Given the description of an element on the screen output the (x, y) to click on. 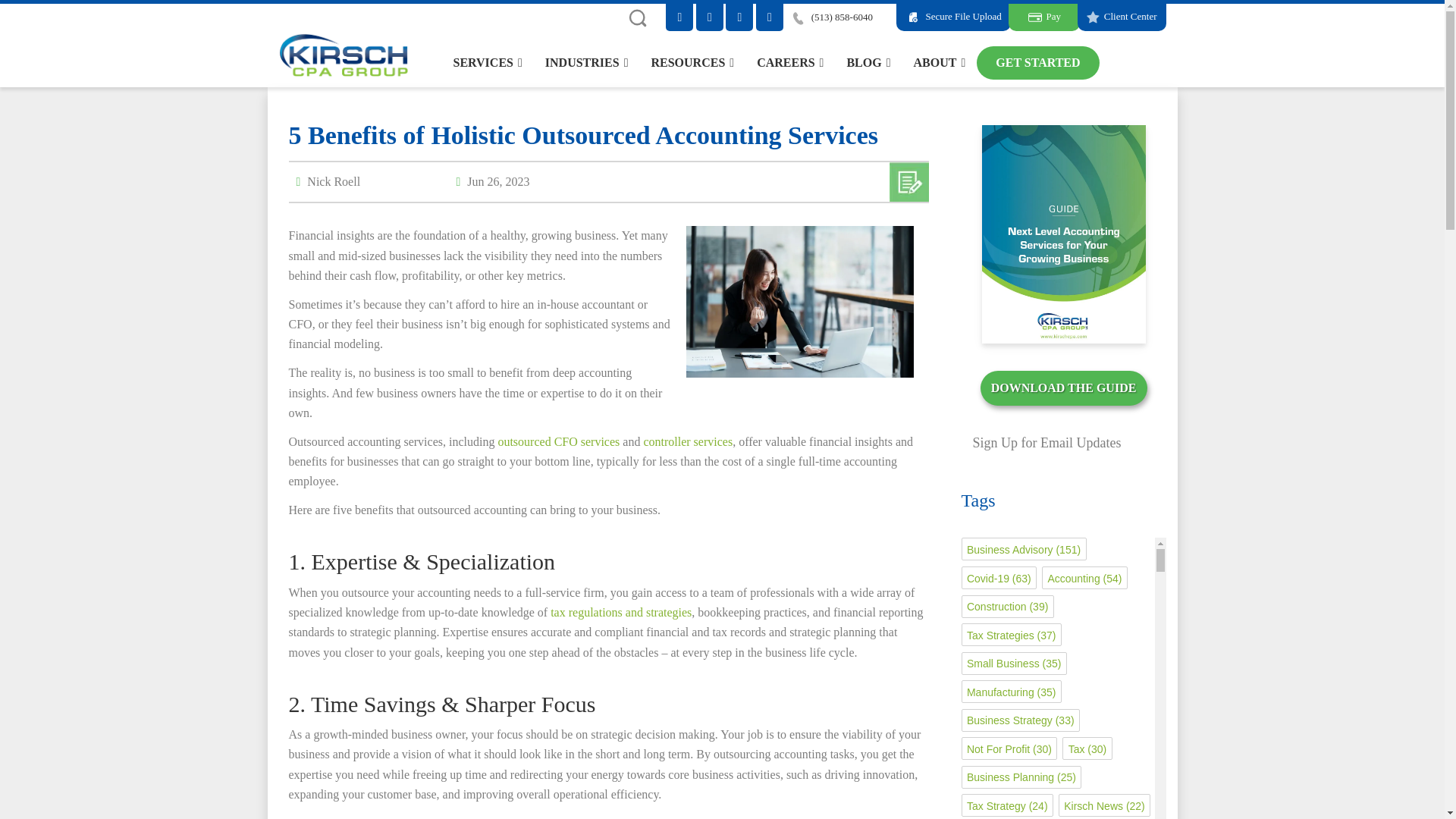
INDUSTRIES (587, 62)
LinkedIn (679, 17)
Youtube (769, 17)
SERVICES (486, 62)
Kirsch CPA Firm Cincinnati (343, 52)
Pay (1044, 17)
Client Center (1121, 17)
Instagram (709, 17)
Secure File Upload (953, 17)
Twitter (738, 17)
